Given the description of an element on the screen output the (x, y) to click on. 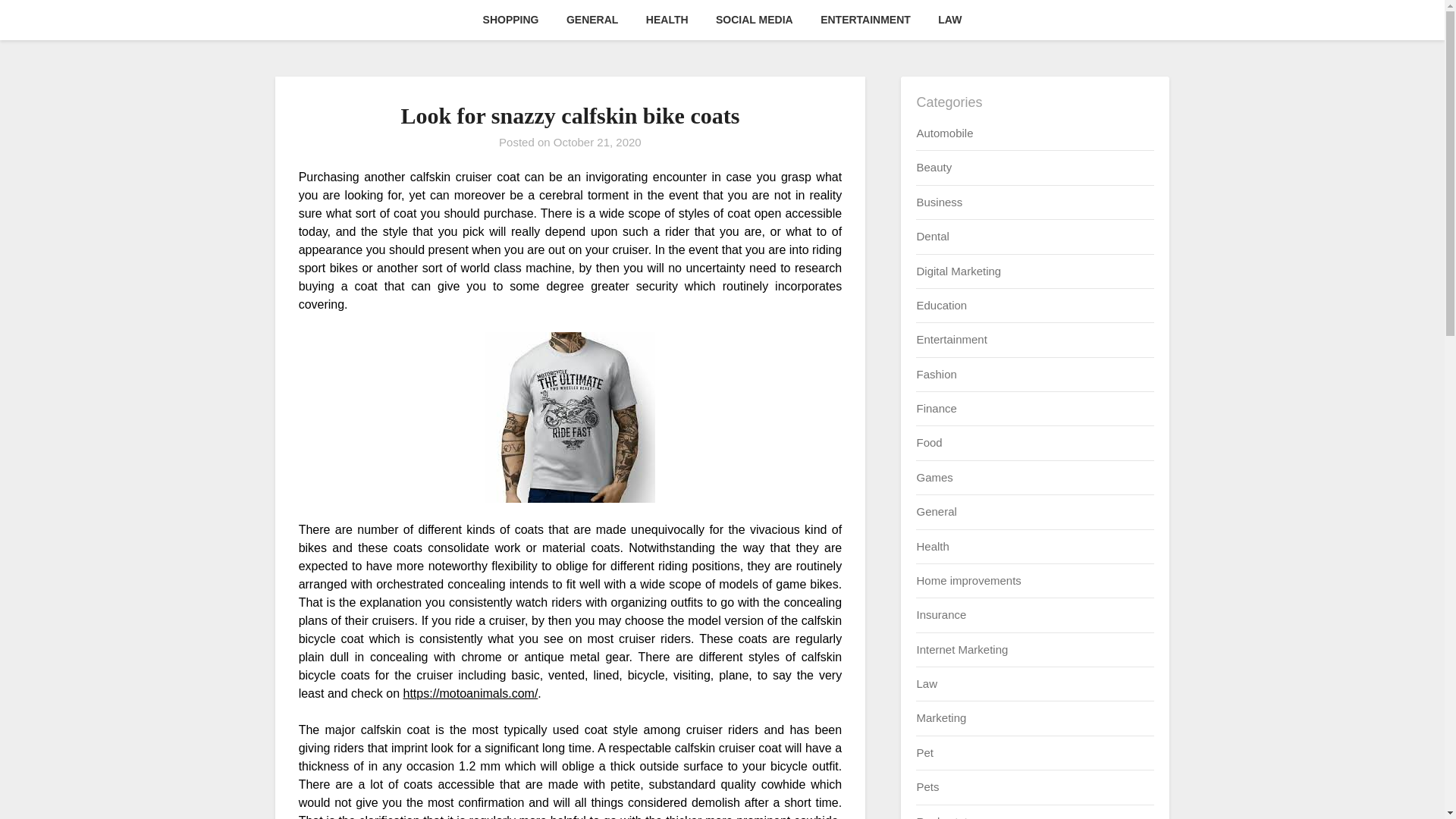
October 21, 2020 (597, 141)
Fashion (935, 373)
Pet (924, 752)
Dental (932, 236)
Digital Marketing (958, 269)
LAW (950, 20)
Law (926, 683)
ENTERTAINMENT (865, 20)
Education (940, 305)
Health (932, 545)
Business (938, 201)
Food (928, 441)
Insurance (940, 614)
Games (933, 477)
Marketing (940, 717)
